Given the description of an element on the screen output the (x, y) to click on. 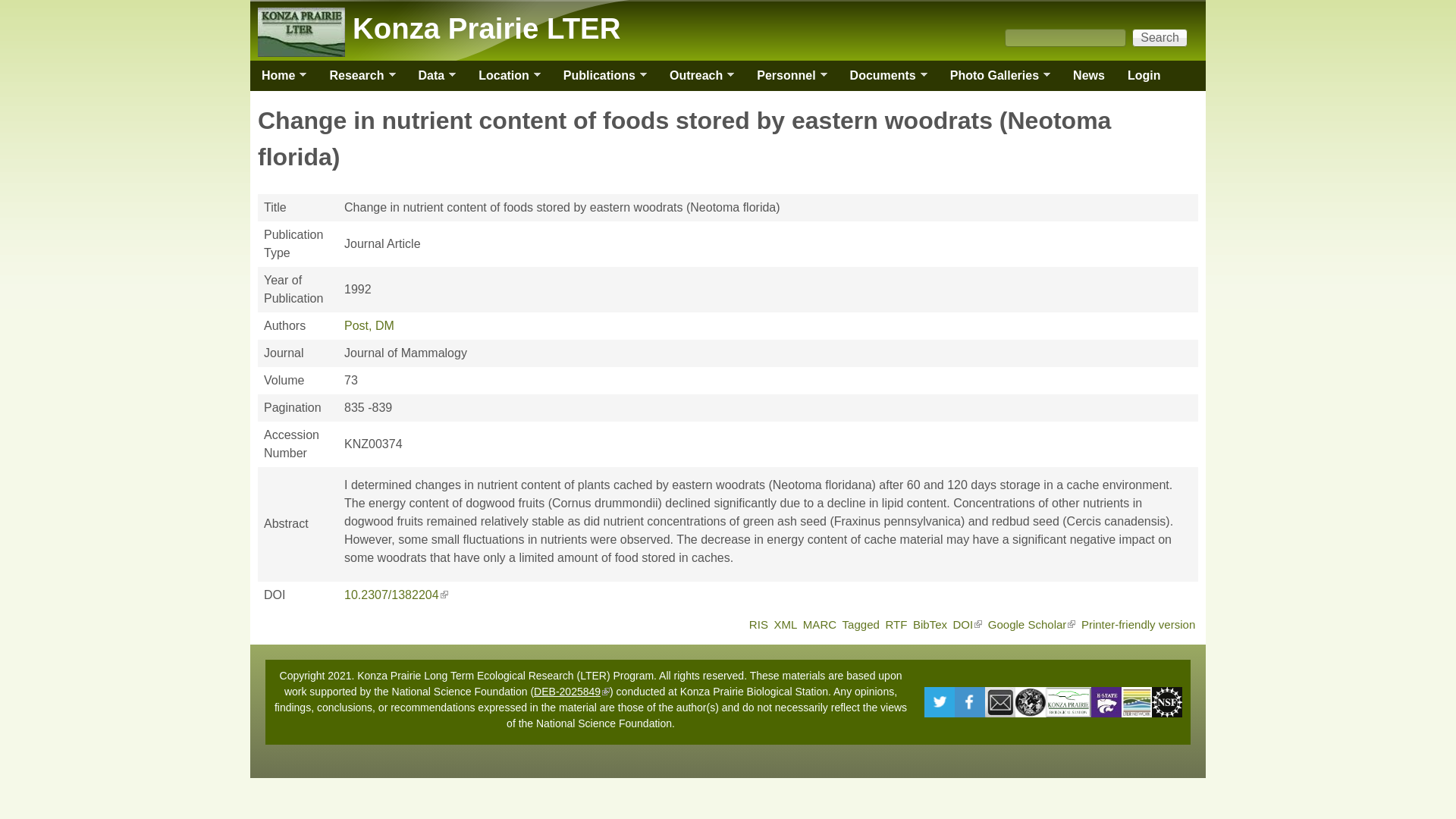
Konza Prairie LTER (486, 28)
Home page (486, 28)
Search (1160, 37)
Enter the terms you wish to search for. (1064, 37)
Search (1160, 37)
Home (277, 75)
